Given the description of an element on the screen output the (x, y) to click on. 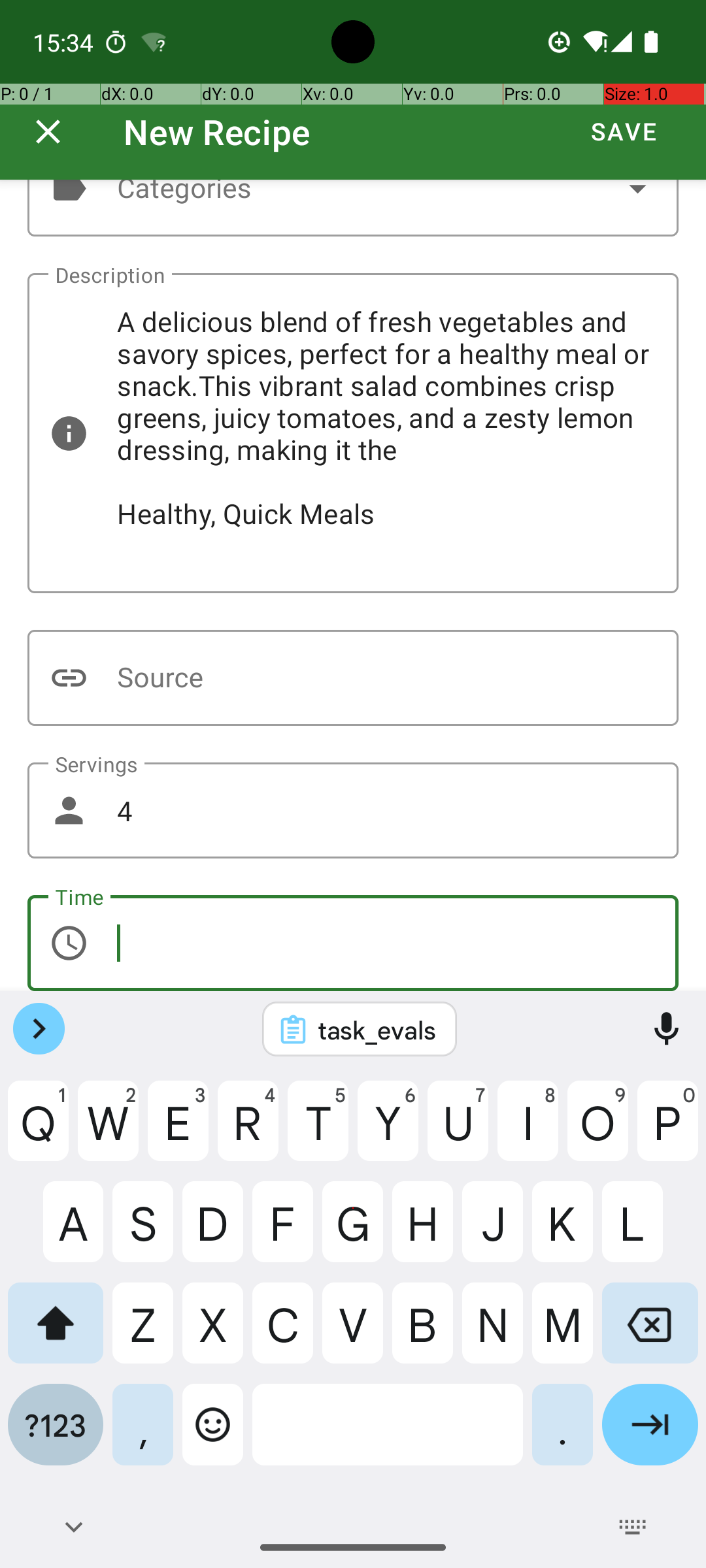
A delicious blend of fresh vegetables and savory spices, perfect for a healthy meal or snack.This vibrant salad combines crisp greens, juicy tomatoes, and a zesty lemon dressing, making it the

Healthy, Quick Meals
 Element type: android.widget.EditText (352, 433)
task_evals Element type: android.widget.TextView (376, 1029)
